Given the description of an element on the screen output the (x, y) to click on. 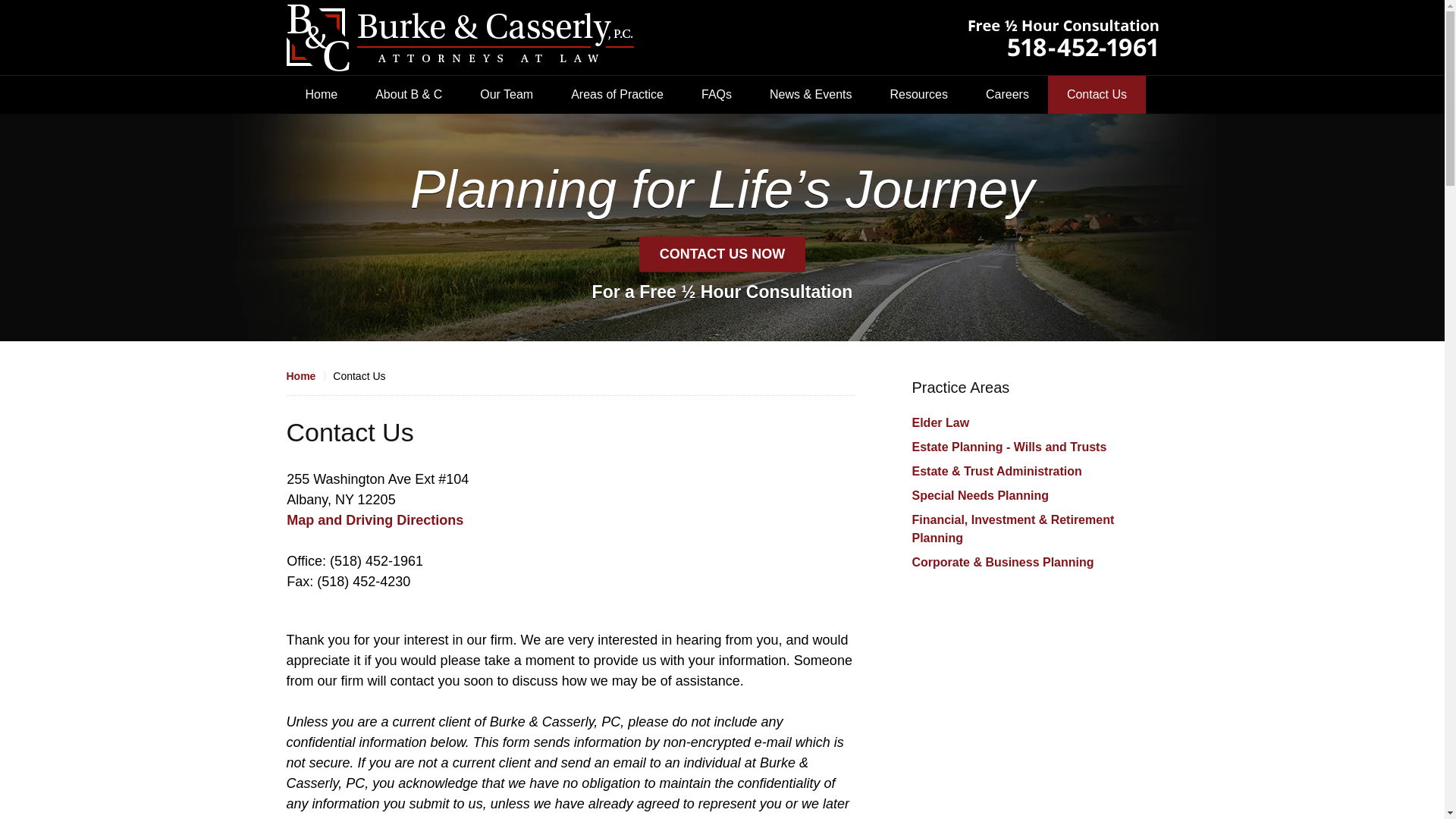
Practice Areas (960, 387)
Our Team (506, 94)
Special Needs Planning (979, 495)
Home (309, 376)
Map and Driving Directions (374, 519)
Resources (918, 94)
Contact Us (1096, 94)
Elder Law (940, 422)
FAQs (716, 94)
Back to Home (459, 37)
